Given the description of an element on the screen output the (x, y) to click on. 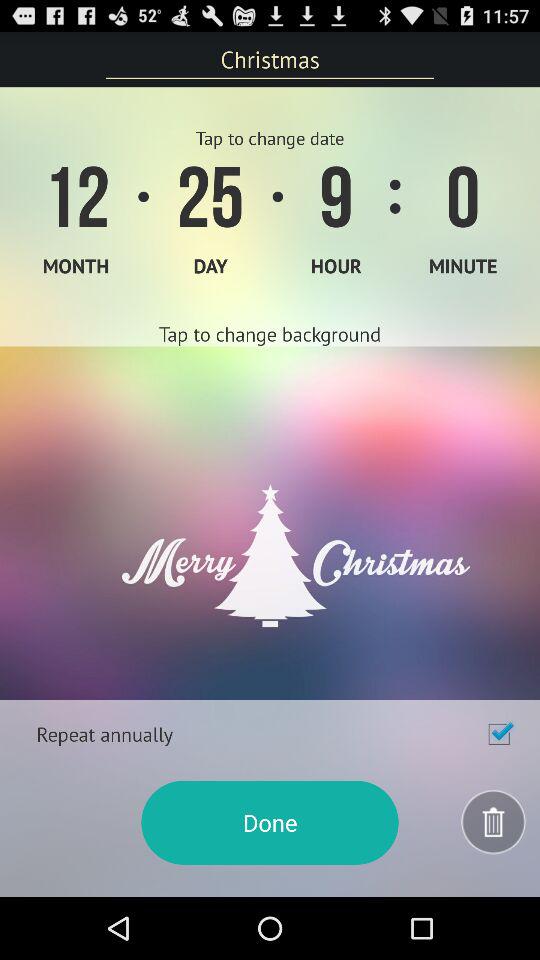
turn on icon below the tap to change (270, 523)
